Given the description of an element on the screen output the (x, y) to click on. 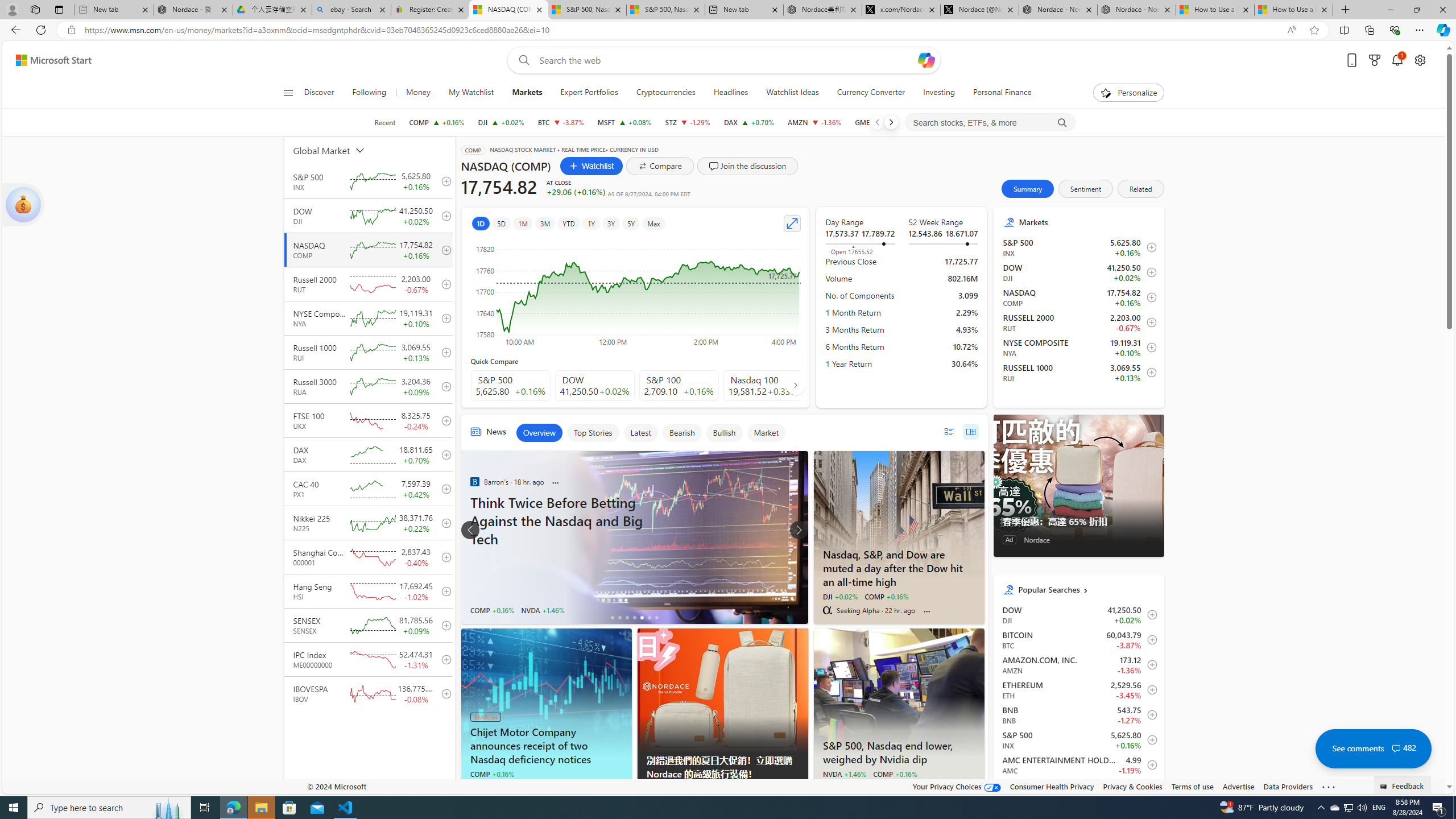
Class: oneFooter_seeMore-DS-EntryPoint1-1 (1328, 786)
COMP NASDAQ increase 17,754.82 +29.06 +0.16% itemundefined (1078, 297)
Enter your search term (726, 59)
BTC Bitcoin decrease 60,043.79 -2,323.69 -3.87% (560, 122)
Top Stories (592, 432)
How to Use a Monitor With Your Closed Laptop (1293, 9)
Privacy & Cookies (1131, 786)
Feedback (1402, 784)
